Given the description of an element on the screen output the (x, y) to click on. 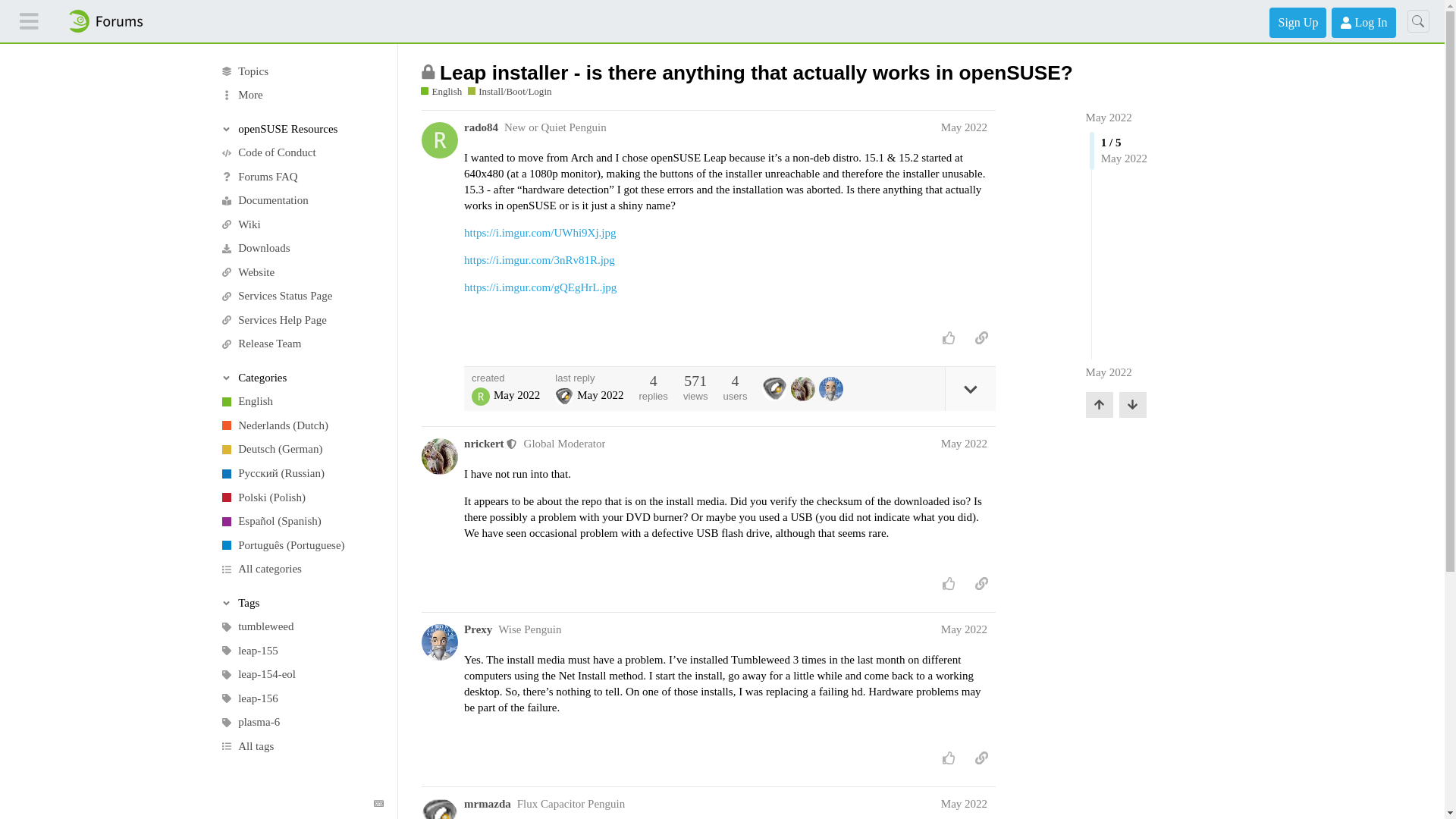
Topics (301, 70)
Search (1418, 20)
Tags (301, 602)
English (301, 401)
Website (301, 273)
Toggle section (301, 128)
English (440, 91)
Toggle section (301, 377)
Documentation (301, 200)
Services Help Page (301, 320)
leap-155 (301, 650)
This topic is closed; it no longer accepts new replies (427, 71)
All tags (301, 746)
Services Status Page (301, 296)
All topics (301, 70)
